Given the description of an element on the screen output the (x, y) to click on. 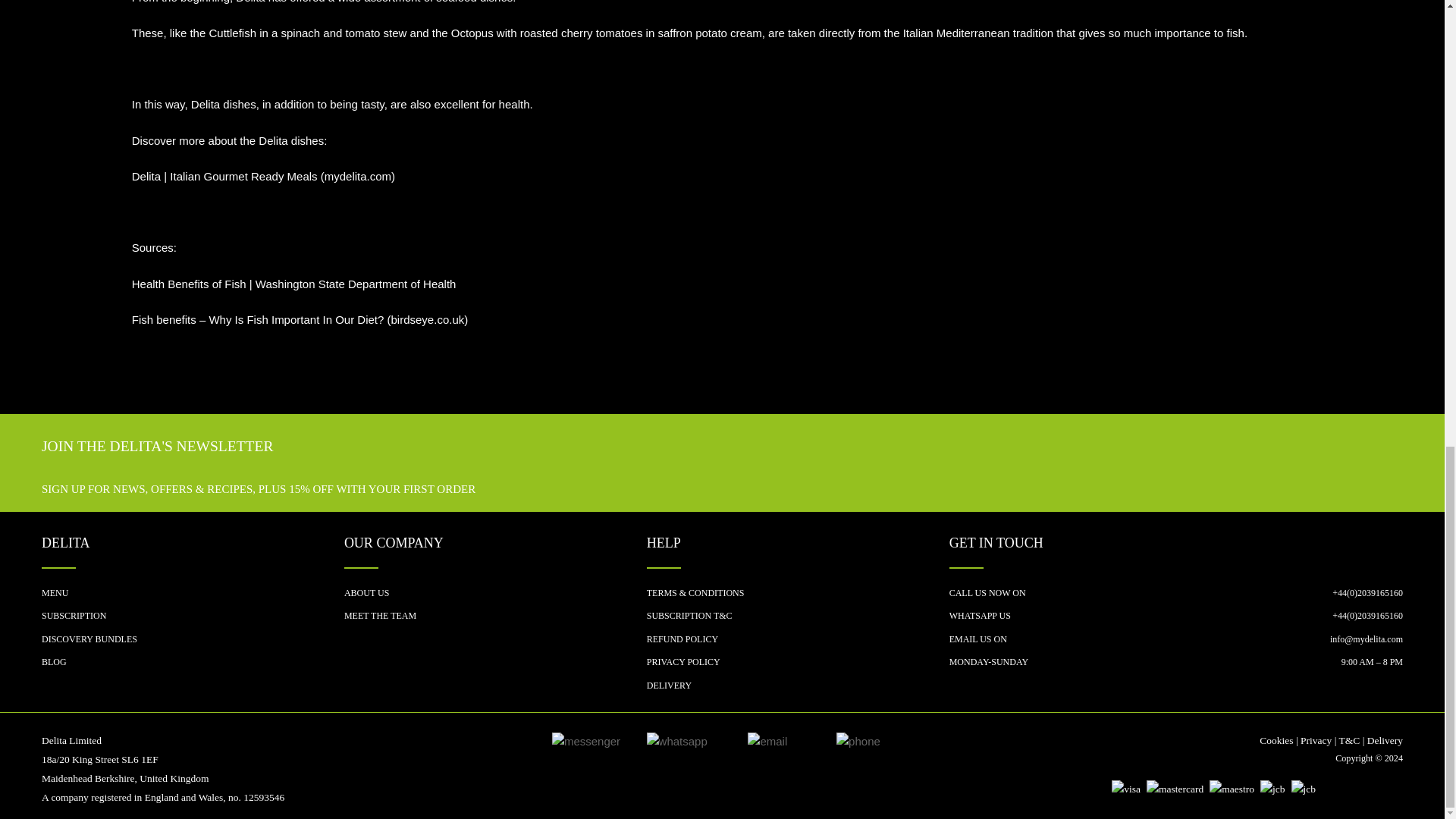
DISCOVERY BUNDLES (192, 642)
Cookies (1275, 740)
ABOUT US (494, 596)
MENU (192, 596)
Privacy (1316, 740)
PRIVACY POLICY (797, 665)
MEET THE TEAM (494, 619)
DELIVERY (797, 689)
BLOG (192, 665)
SUBSCRIPTION (192, 619)
